Given the description of an element on the screen output the (x, y) to click on. 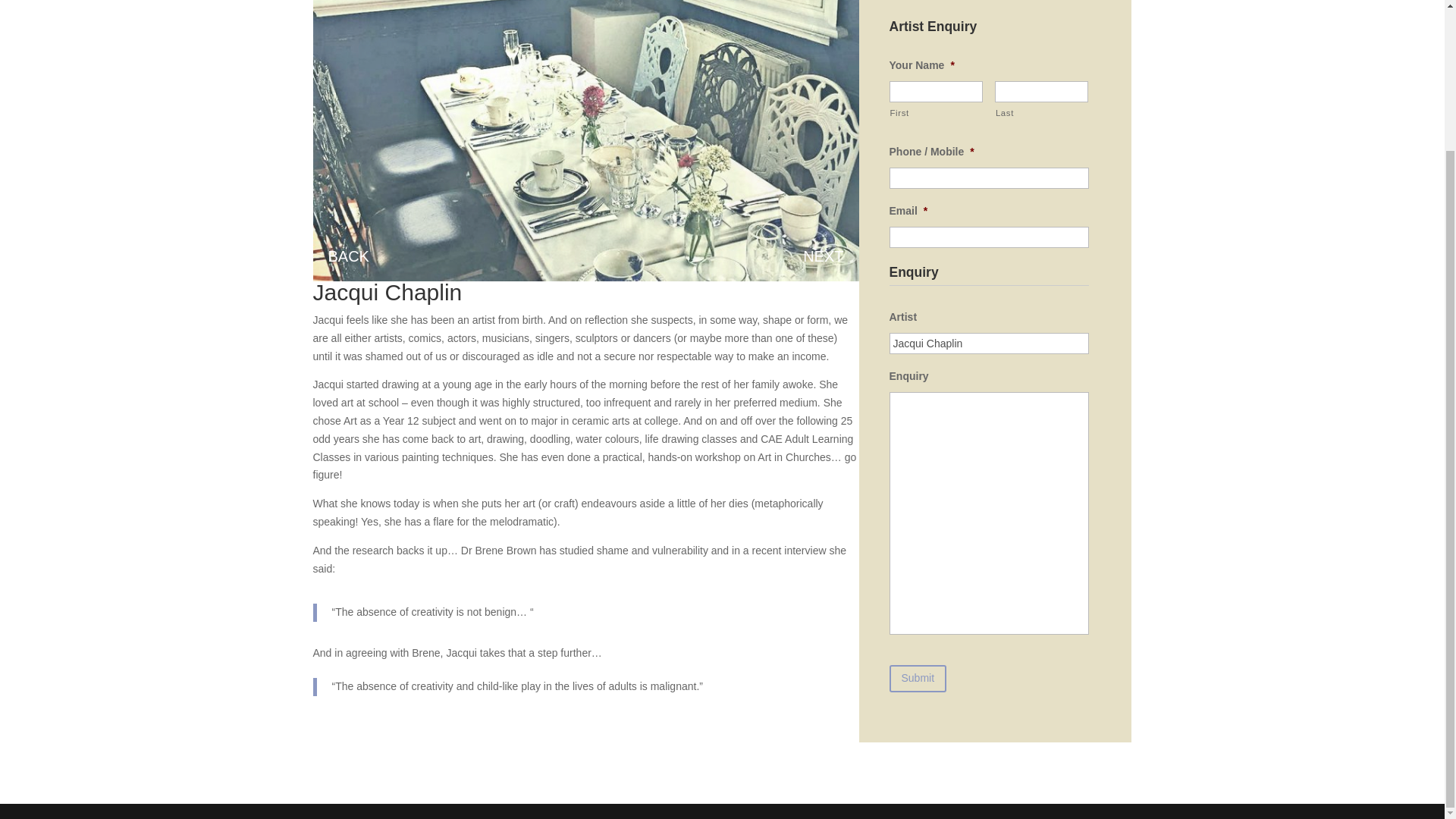
Jacqui Chaplin (988, 342)
Submit (917, 678)
